Given the description of an element on the screen output the (x, y) to click on. 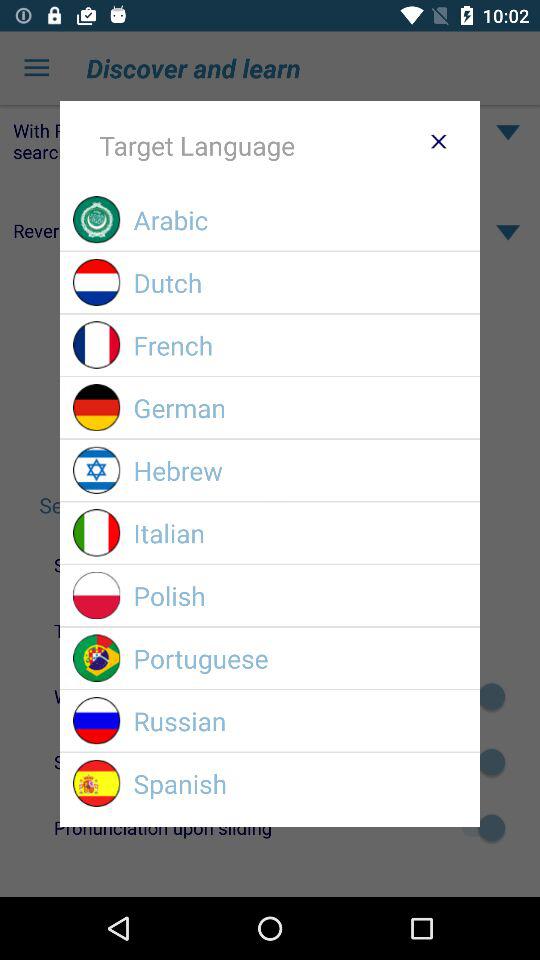
jump until the portuguese icon (300, 657)
